Given the description of an element on the screen output the (x, y) to click on. 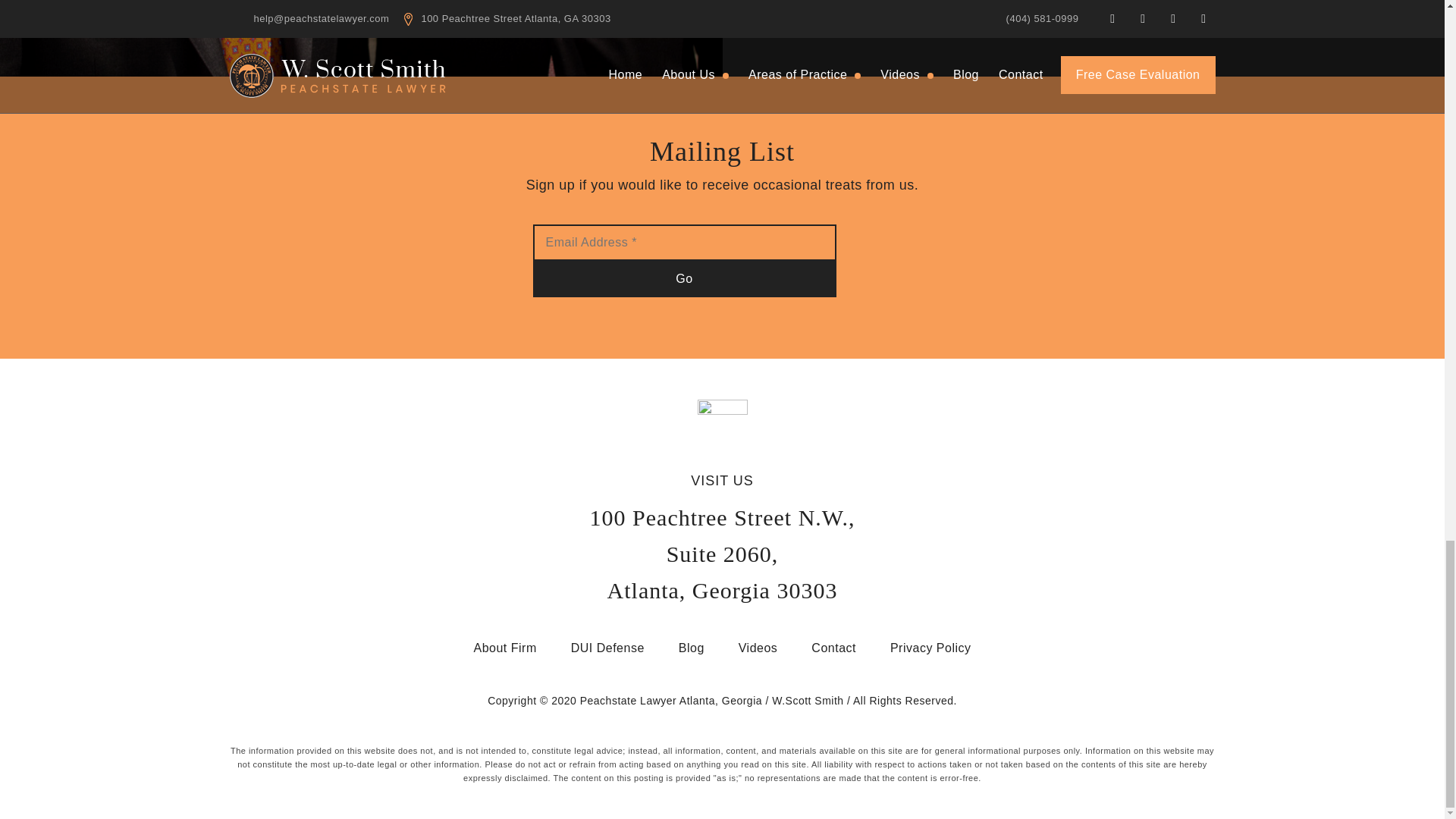
Go (683, 279)
